Given the description of an element on the screen output the (x, y) to click on. 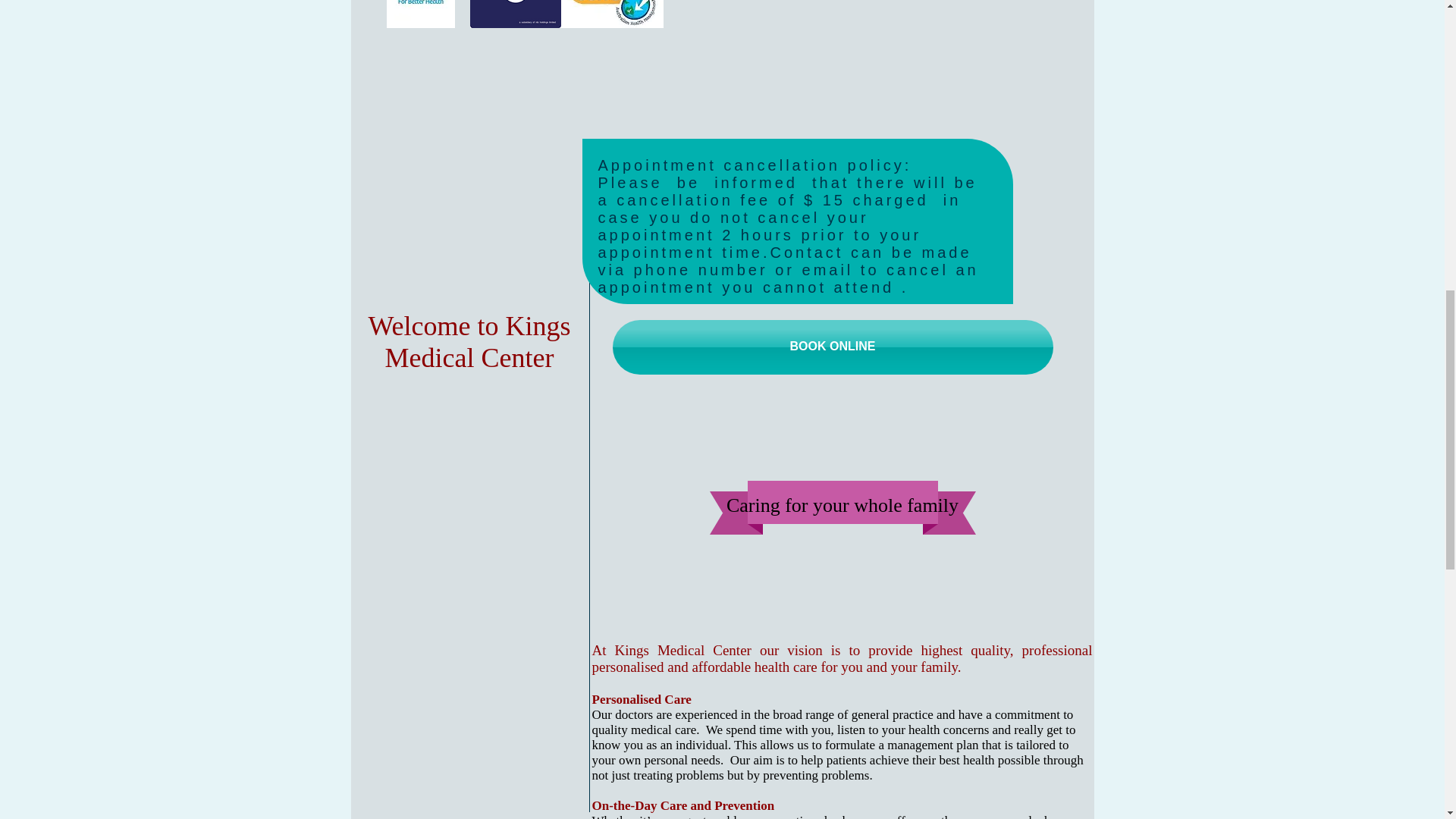
BOOK ONLINE (832, 347)
